Given the description of an element on the screen output the (x, y) to click on. 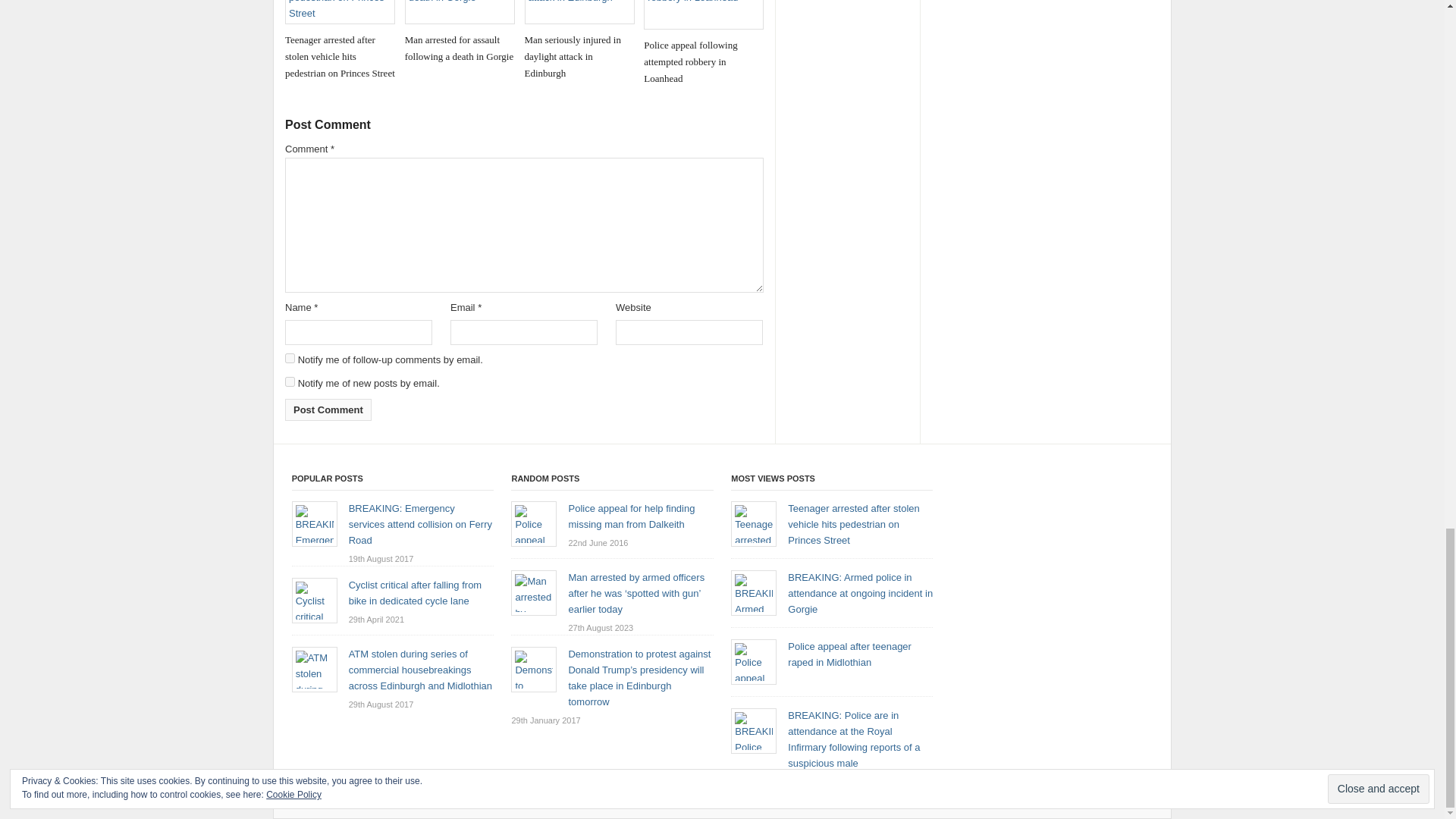
Police appeal following attempted robbery in Loanhead (702, 43)
Post Comment (328, 409)
Police appeal for help finding missing man from Dalkeith (630, 515)
Man seriously injured in daylight attack in Edinburgh (579, 40)
subscribe (290, 357)
BREAKING: Emergency services attend collision on Ferry Road (420, 524)
Man arrested for assault following a death in Gorgie (459, 32)
subscribe (290, 381)
